Given the description of an element on the screen output the (x, y) to click on. 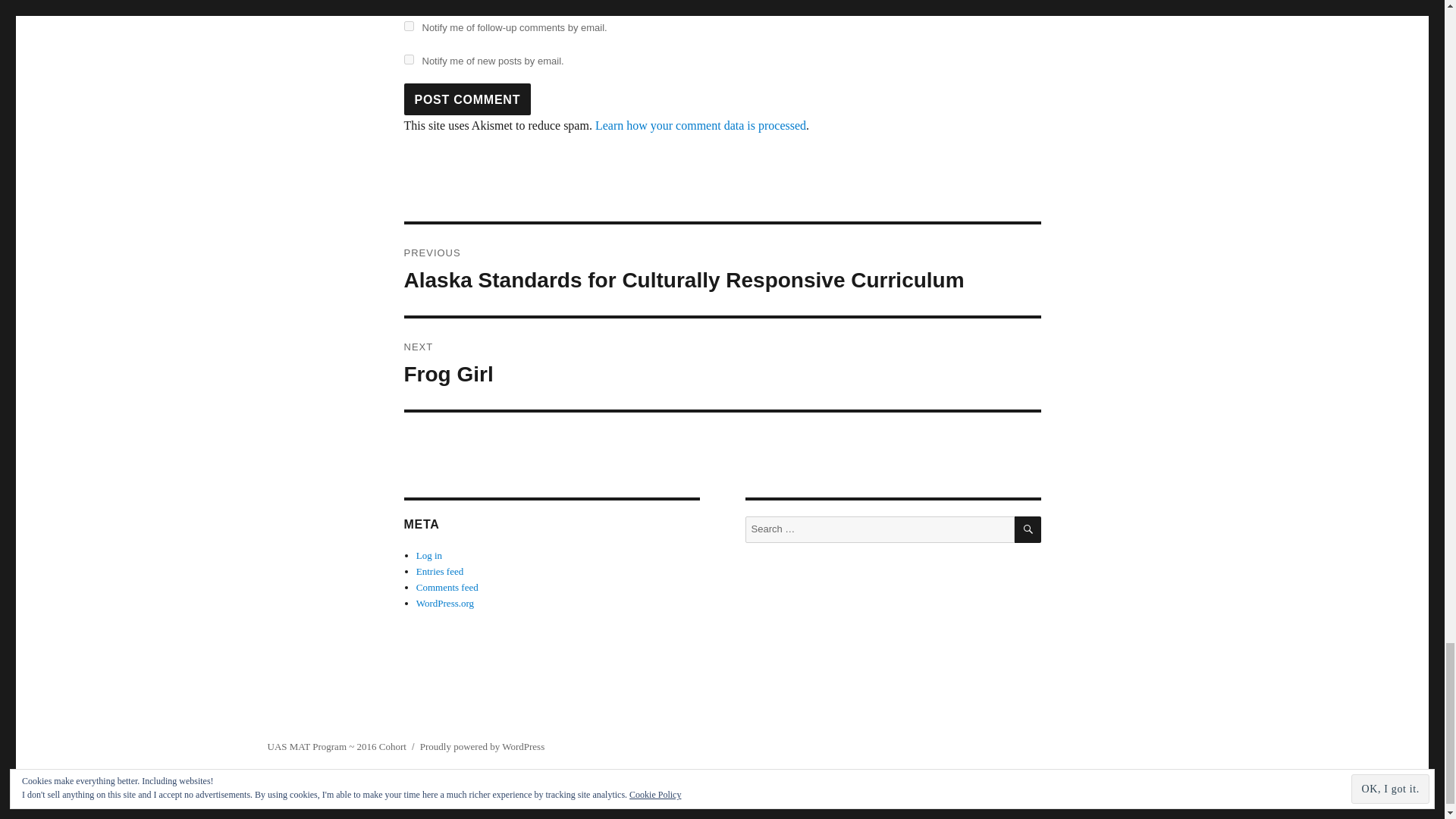
Post Comment (467, 99)
subscribe (408, 26)
subscribe (408, 59)
